Given the description of an element on the screen output the (x, y) to click on. 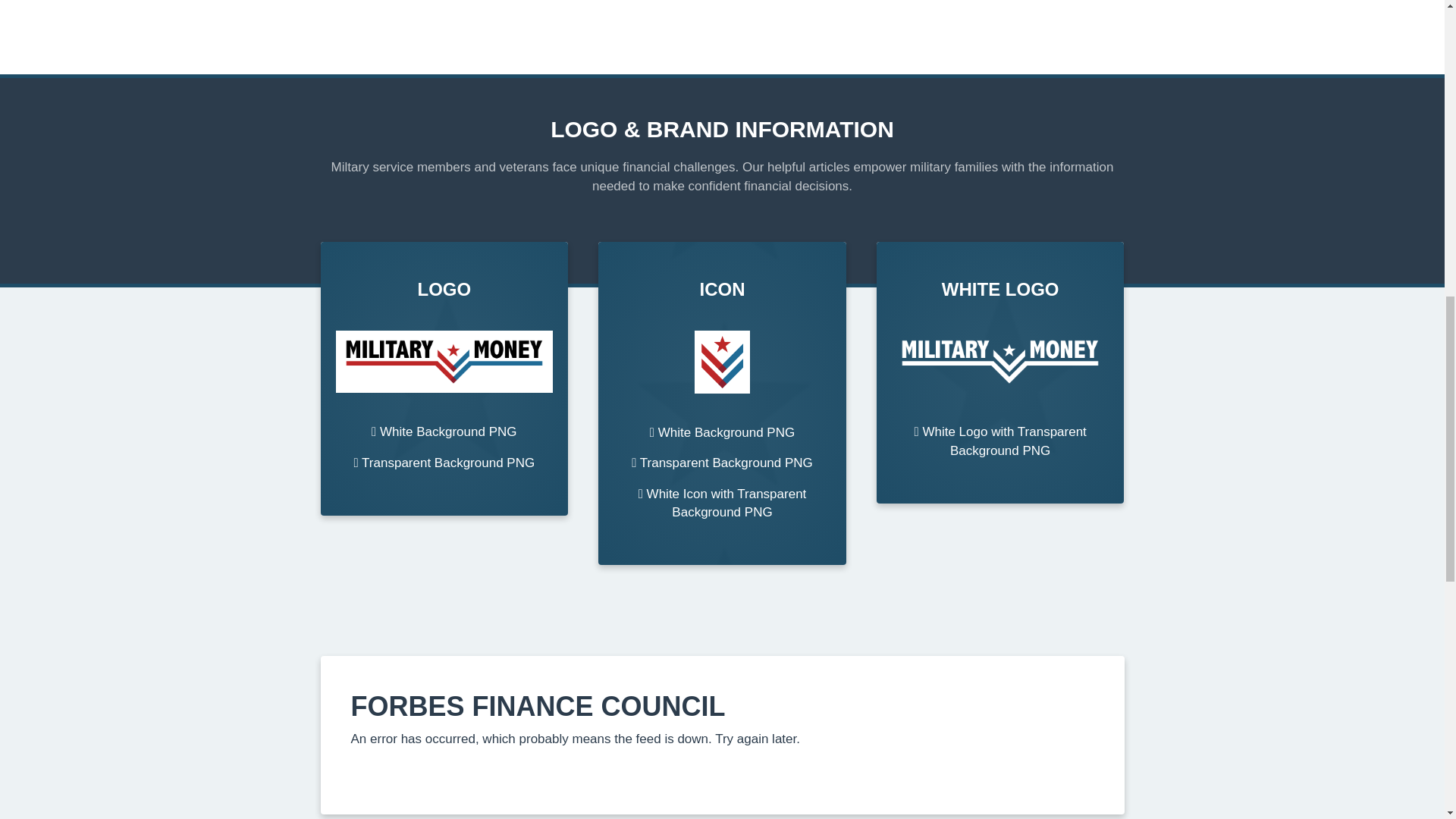
White Logo with Transparent Background PNG (1000, 441)
White Background PNG (443, 431)
White Background PNG (721, 432)
White Icon with Transparent Background PNG (722, 503)
FORBES FINANCE COUNCIL (537, 706)
Military-Money-Logo (443, 361)
Military-Money-Logo-white (1000, 361)
Transparent Background PNG (721, 462)
Transparent Background PNG (443, 462)
